Given the description of an element on the screen output the (x, y) to click on. 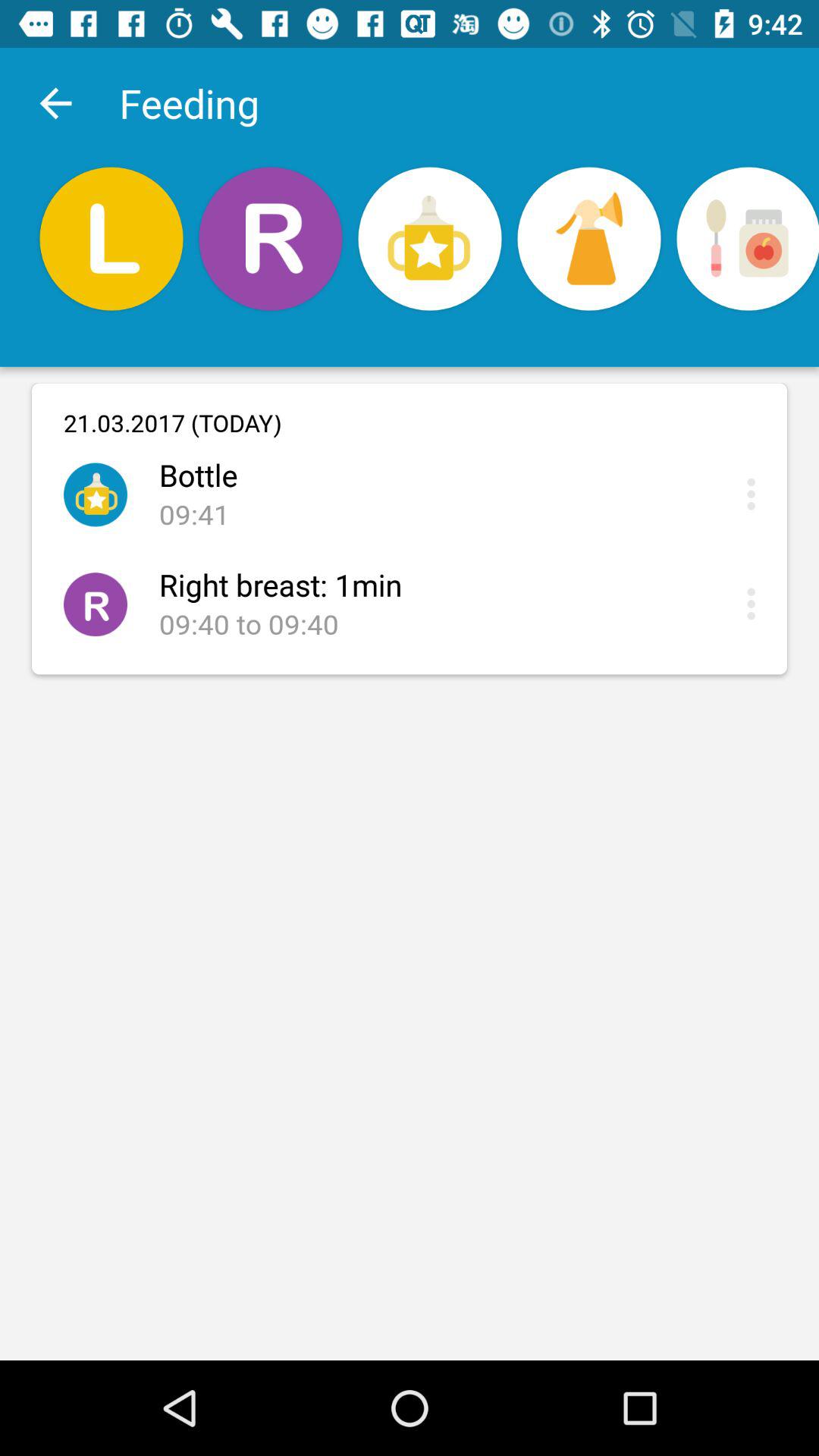
click for more options (755, 493)
